Given the description of an element on the screen output the (x, y) to click on. 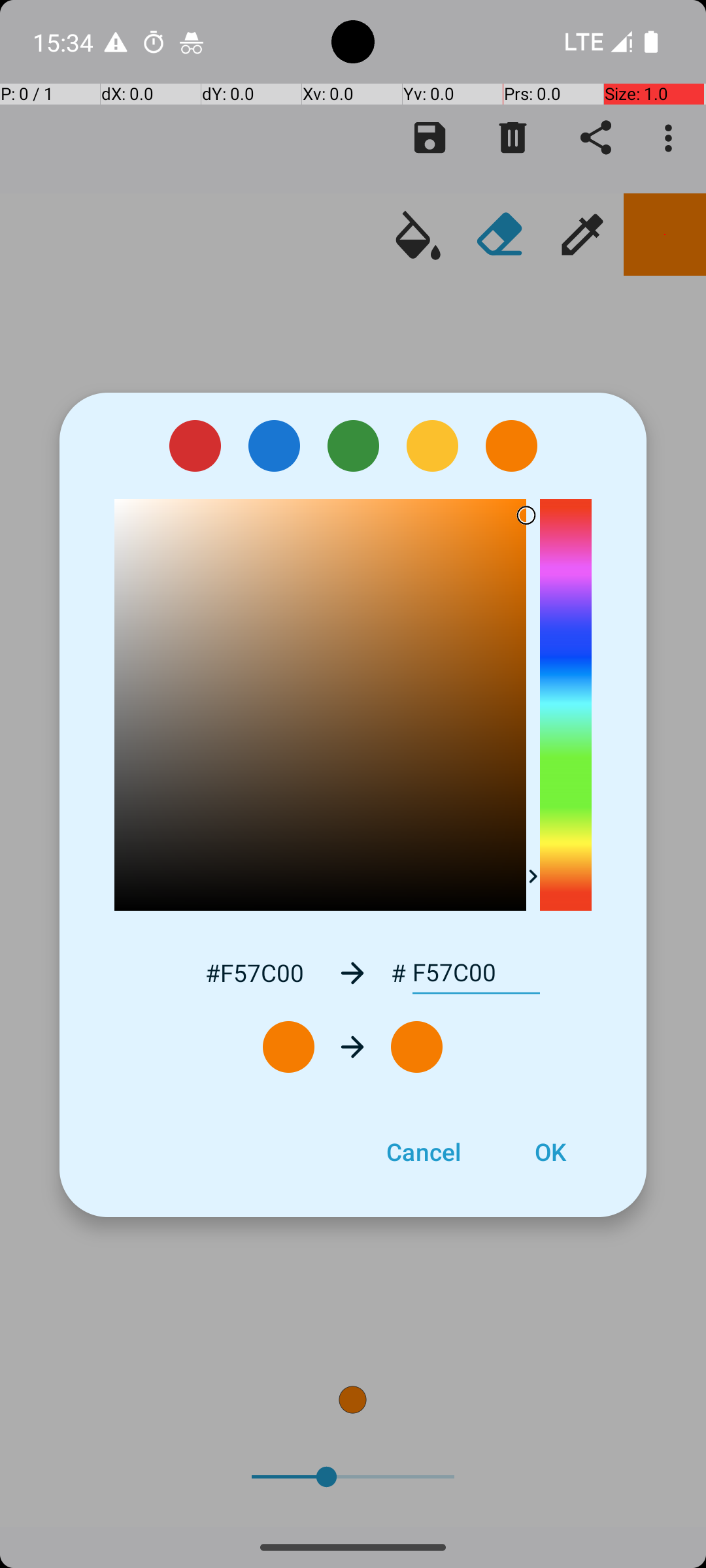
#F57C00 Element type: android.widget.TextView (254, 972)
# Element type: android.widget.TextView (397, 972)
F57C00 Element type: android.widget.EditText (475, 972)
